Given the description of an element on the screen output the (x, y) to click on. 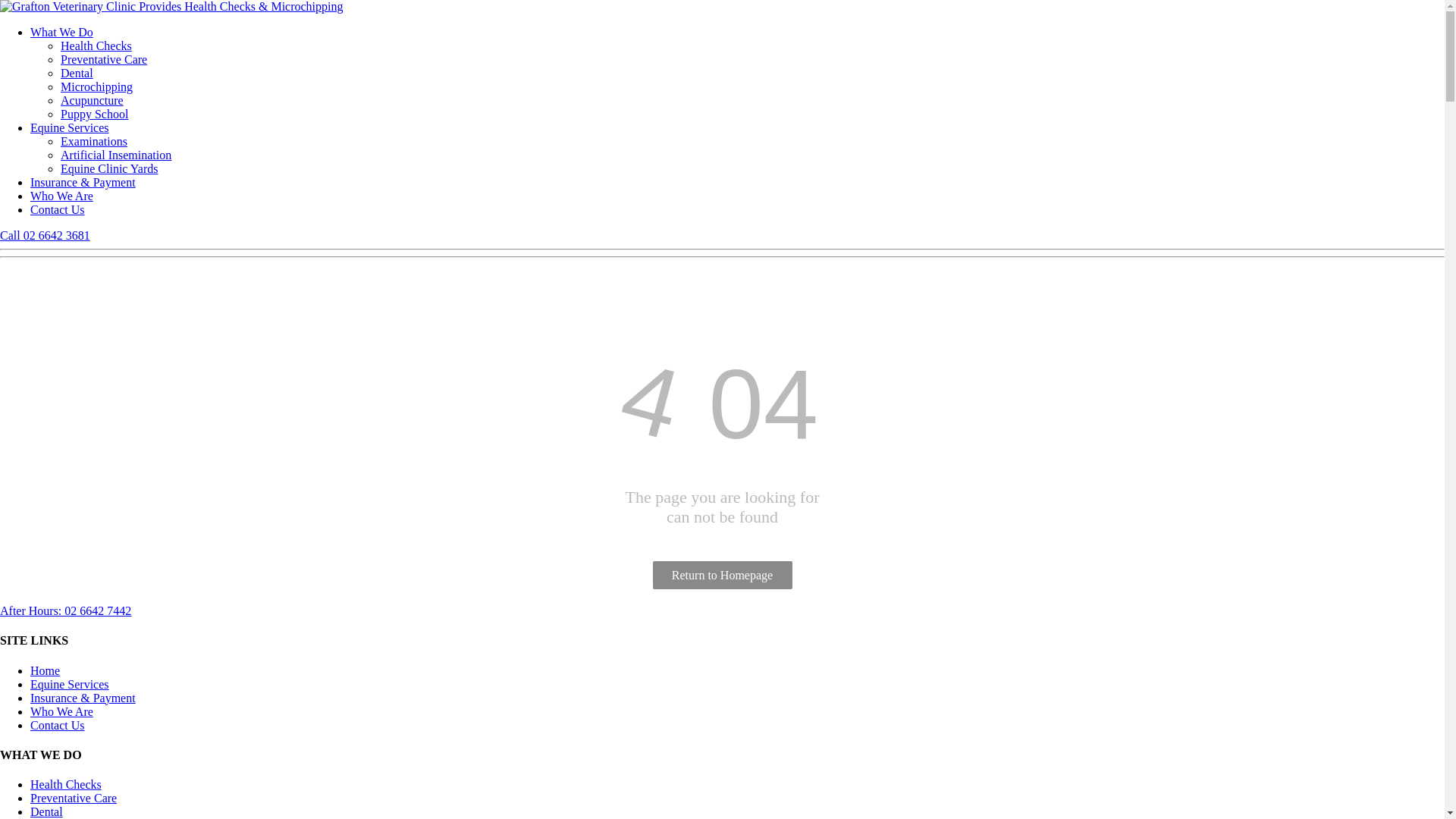
Insurance & Payment Element type: text (82, 181)
Contact Us Element type: text (57, 209)
Dental Element type: text (76, 72)
Microchipping Element type: text (96, 86)
Who We Are Element type: text (61, 711)
Acupuncture Element type: text (91, 100)
Return to Homepage Element type: text (721, 575)
What We Do Element type: text (61, 31)
Insurance & Payment Element type: text (82, 697)
Health Checks Element type: text (65, 784)
Call 02 6642 3681 Element type: text (45, 235)
Home Element type: text (44, 670)
Health Checks Element type: text (95, 45)
Puppy School Element type: text (94, 113)
Contact Us Element type: text (57, 724)
Examinations Element type: text (93, 140)
Equine Services Element type: text (69, 683)
After Hours: 02 6642 7442 Element type: text (65, 610)
Dental Element type: text (46, 811)
Artificial Insemination Element type: text (115, 154)
Preventative Care Element type: text (103, 59)
Who We Are Element type: text (61, 195)
Equine Services Element type: text (69, 127)
Equine Clinic Yards Element type: text (108, 168)
Preventative Care Element type: text (73, 797)
